Given the description of an element on the screen output the (x, y) to click on. 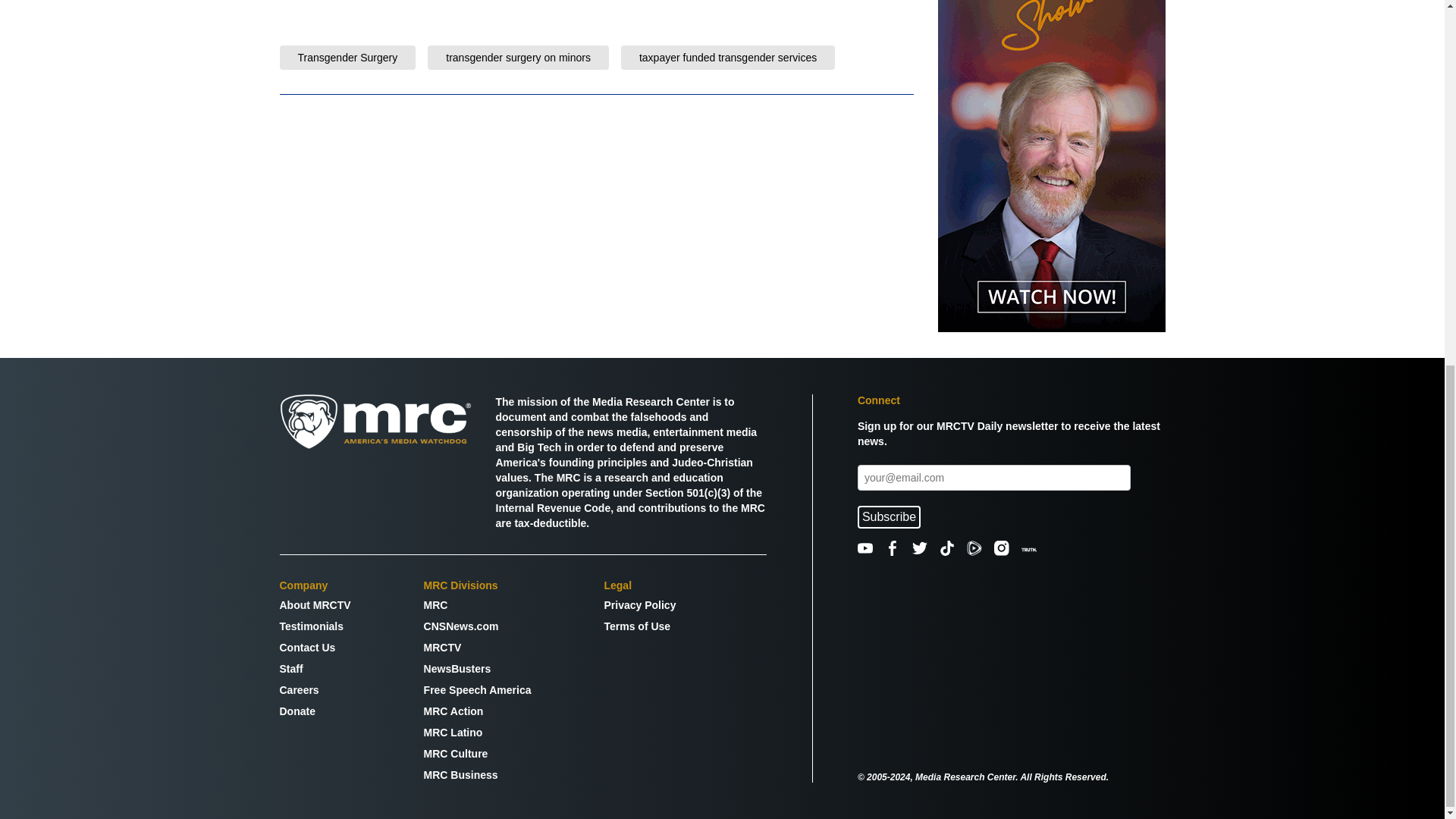
Transgender Surgery (347, 57)
Donate (314, 711)
CNSNews.com (477, 626)
Testimonials (314, 626)
MRC (477, 604)
Careers (314, 689)
Staff (314, 668)
Contact Us (314, 647)
taxpayer funded transgender services (727, 57)
transgender surgery on minors (518, 57)
About MRCTV (314, 604)
